Given the description of an element on the screen output the (x, y) to click on. 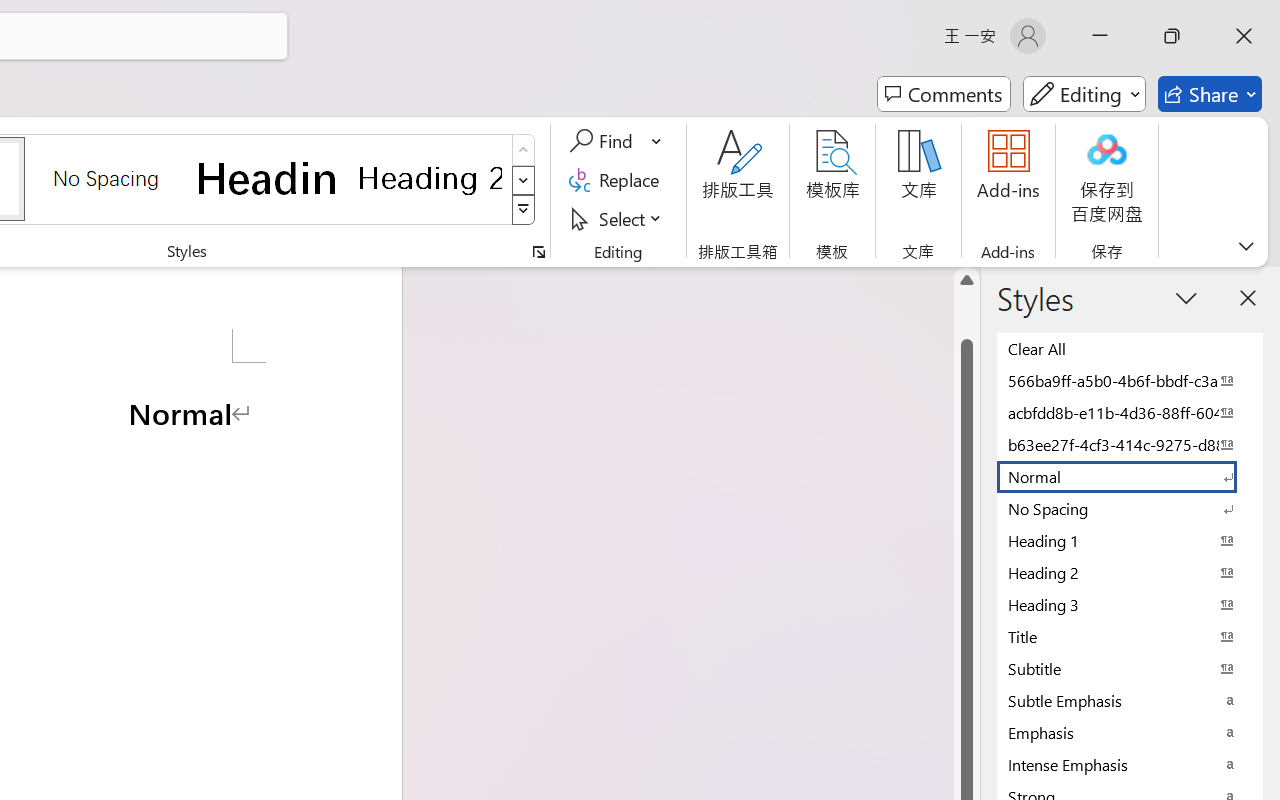
Row Down (523, 180)
Heading 2 (429, 178)
Styles... (538, 252)
Line up (966, 279)
Clear All (1130, 348)
acbfdd8b-e11b-4d36-88ff-6049b138f862 (1130, 412)
Mode (1083, 94)
No Spacing (1130, 508)
Select (618, 218)
